Given the description of an element on the screen output the (x, y) to click on. 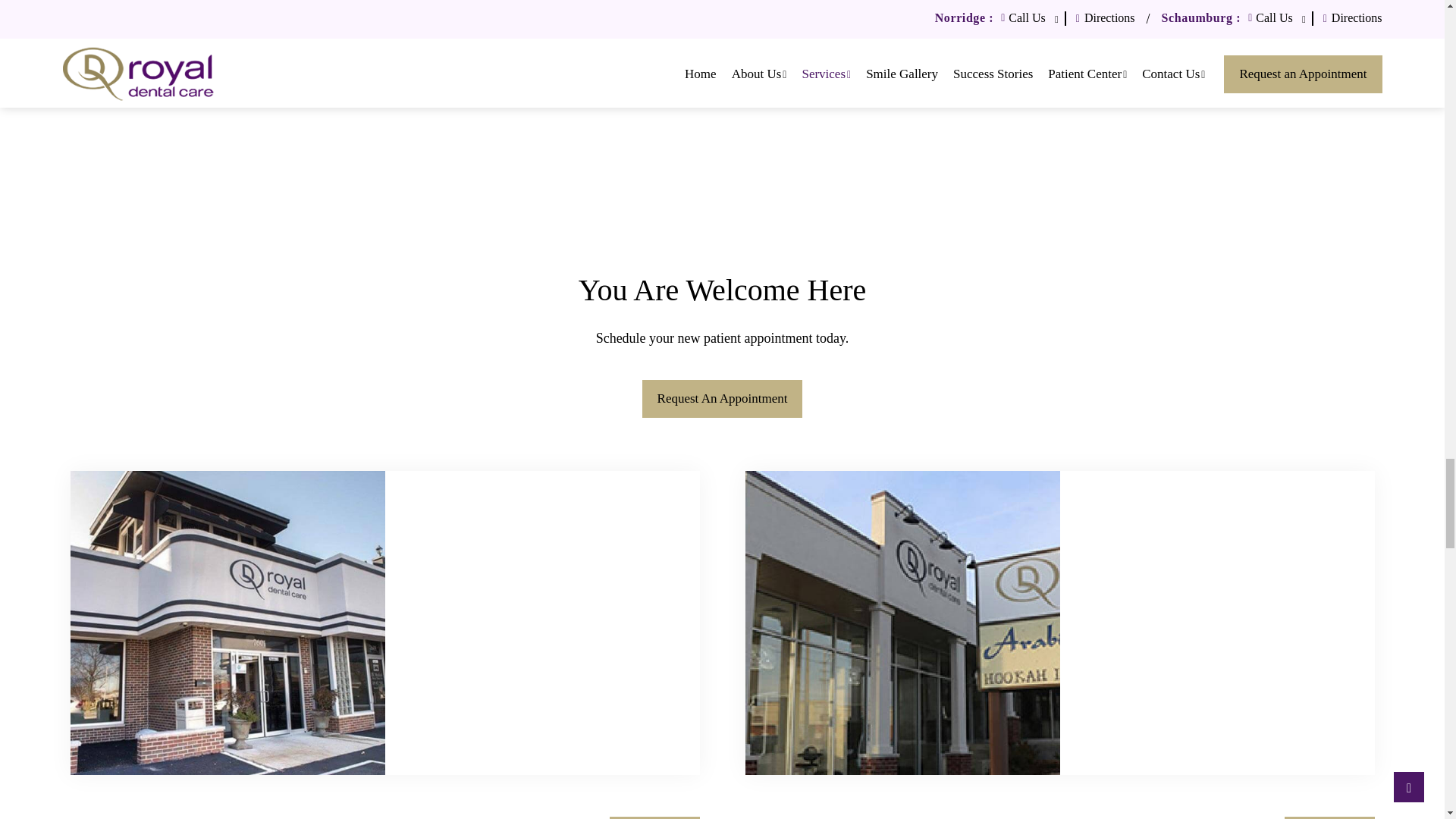
Google Map (1216, 621)
Google Map (542, 621)
